Given the description of an element on the screen output the (x, y) to click on. 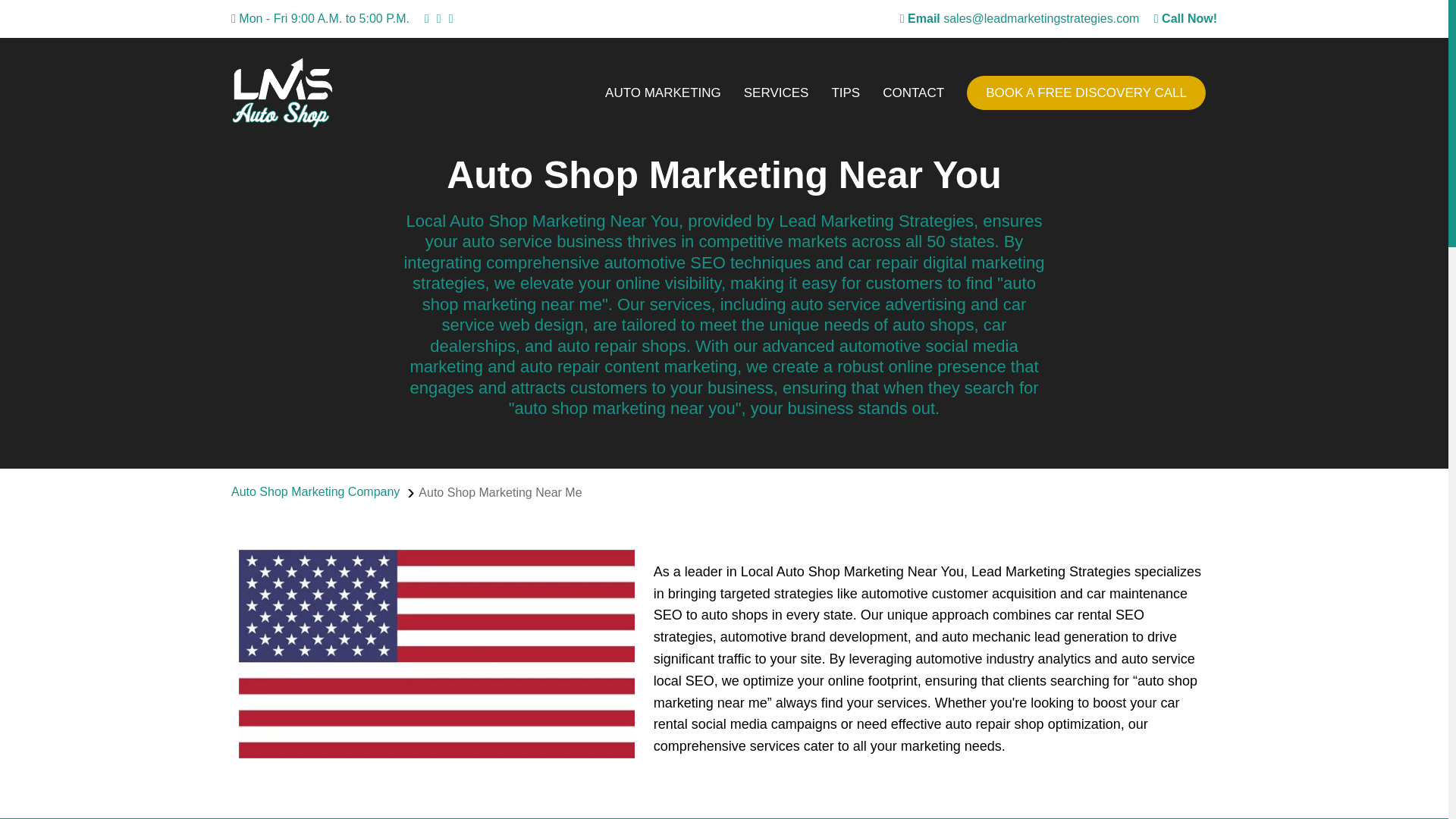
Auto Shop Marketing Company (314, 491)
Auto Marketing (663, 92)
Call Now! (1185, 18)
CONTACT (912, 92)
Services (776, 92)
AUTO MARKETING (663, 92)
Tips (844, 92)
Auto Shop Marketing Near Me (499, 492)
BOOK A FREE DISCOVERY CALL (1086, 92)
TIPS (844, 92)
SERVICES (776, 92)
Contact (912, 92)
